Given the description of an element on the screen output the (x, y) to click on. 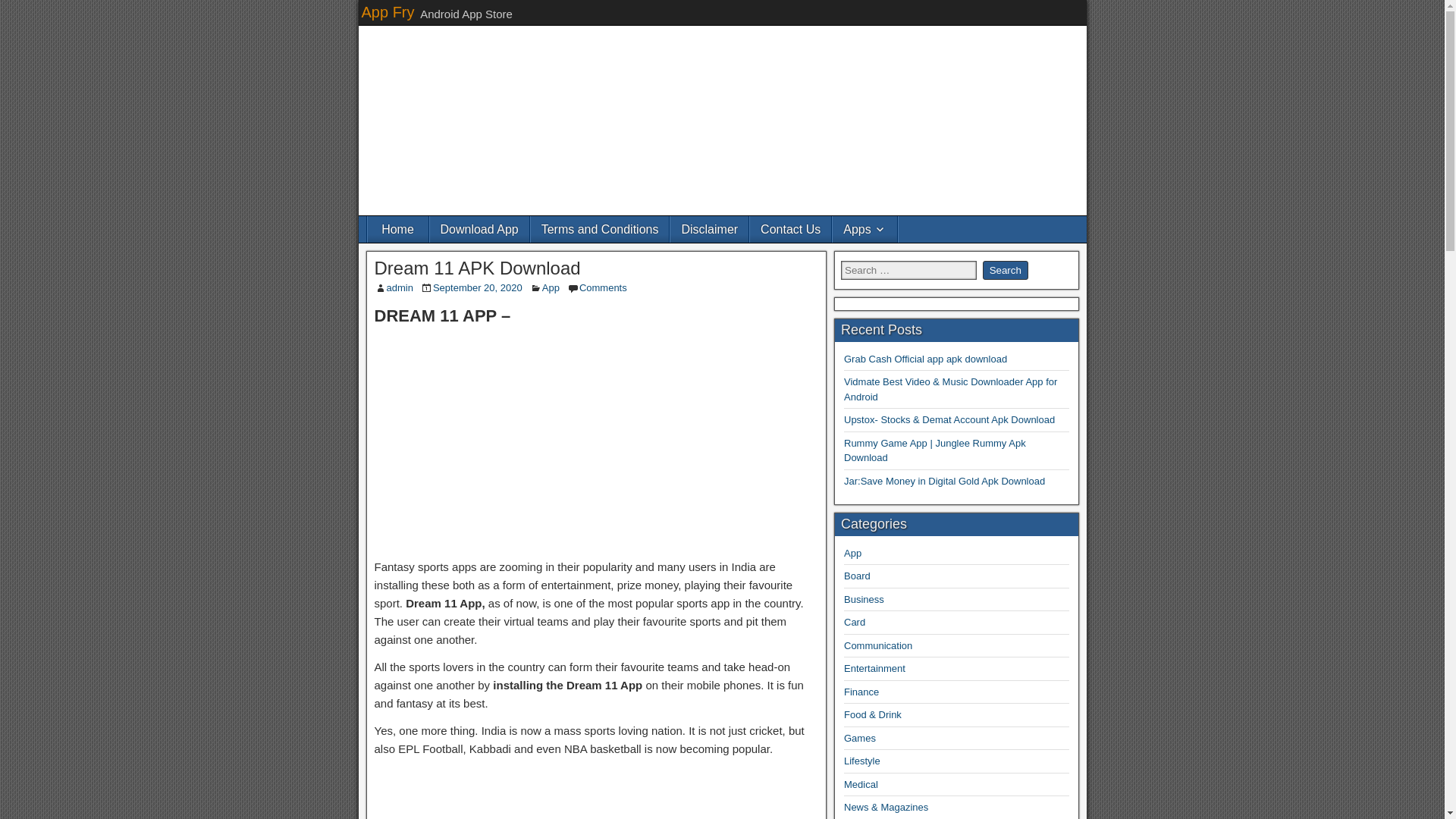
Jar:Save Money in Digital Gold Apk Download (944, 480)
Advertisement (595, 440)
Board (857, 575)
Entertainment (874, 668)
Lifestyle (862, 760)
App (550, 287)
Search (1004, 270)
Disclaimer (708, 229)
Finance (861, 691)
Search (1004, 270)
